Given the description of an element on the screen output the (x, y) to click on. 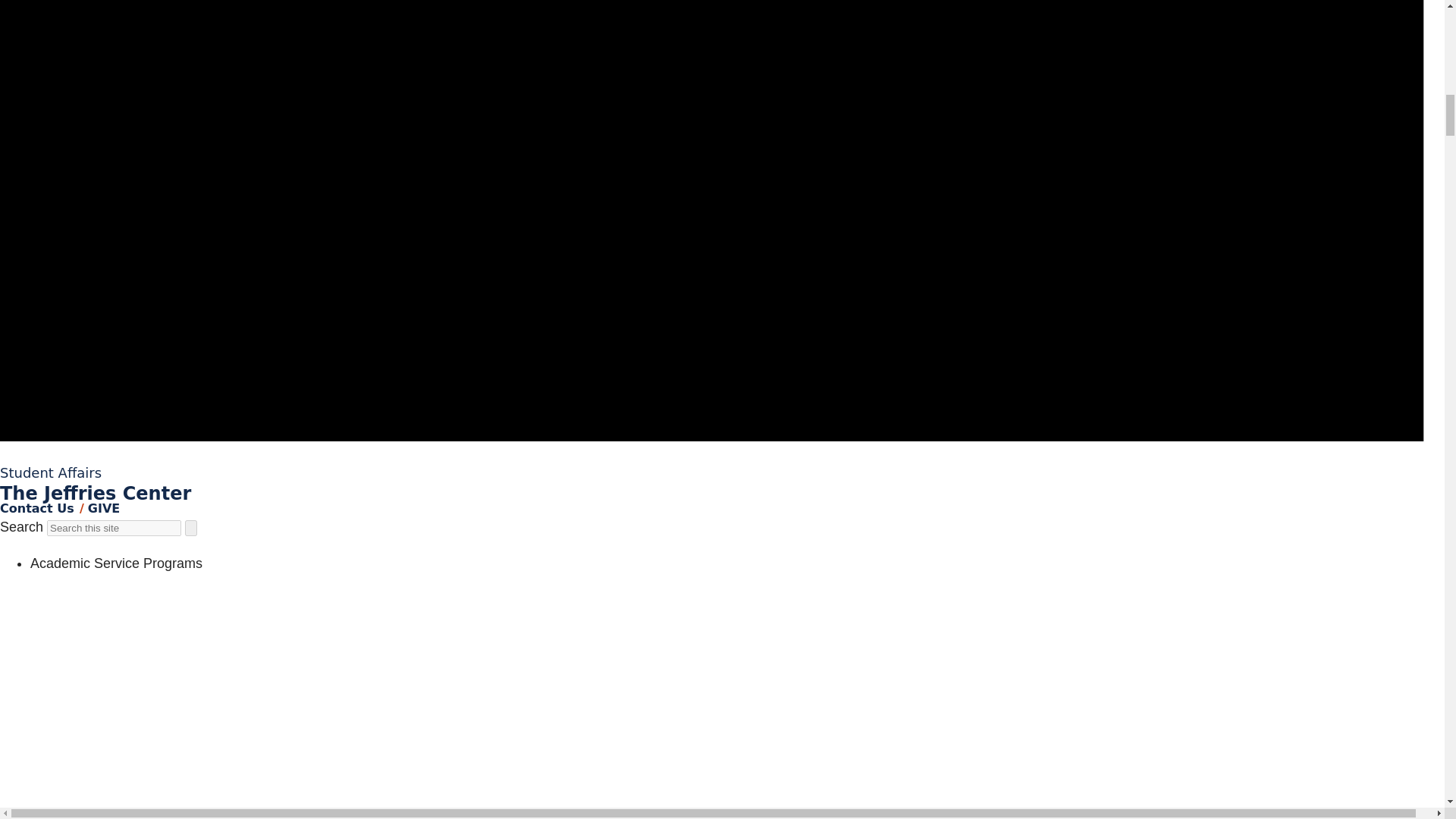
Student Affairs (50, 472)
GIVE (103, 508)
The Jeffries Center (95, 493)
Academic Service Programs (116, 563)
Contact Us (37, 508)
